Given the description of an element on the screen output the (x, y) to click on. 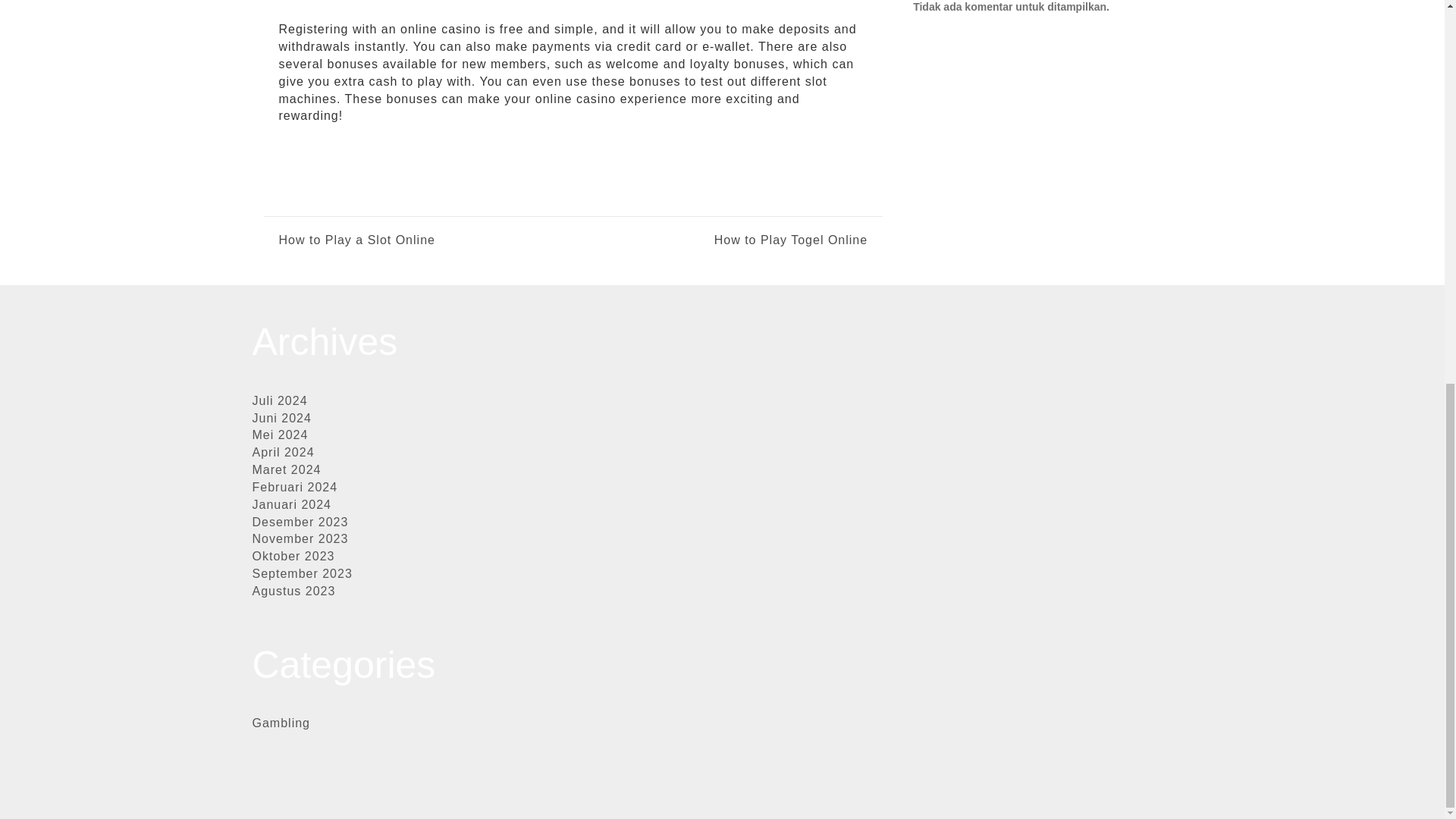
November 2023 (299, 538)
How to Play Togel Online (720, 240)
September 2023 (301, 573)
Januari 2024 (291, 504)
Oktober 2023 (292, 555)
Mei 2024 (279, 434)
Februari 2024 (294, 486)
Desember 2023 (299, 521)
Juli 2024 (279, 400)
How to Play a Slot Online (357, 240)
Maret 2024 (285, 469)
Gambling (279, 722)
Agustus 2023 (292, 590)
April 2024 (282, 451)
Juni 2024 (281, 418)
